Given the description of an element on the screen output the (x, y) to click on. 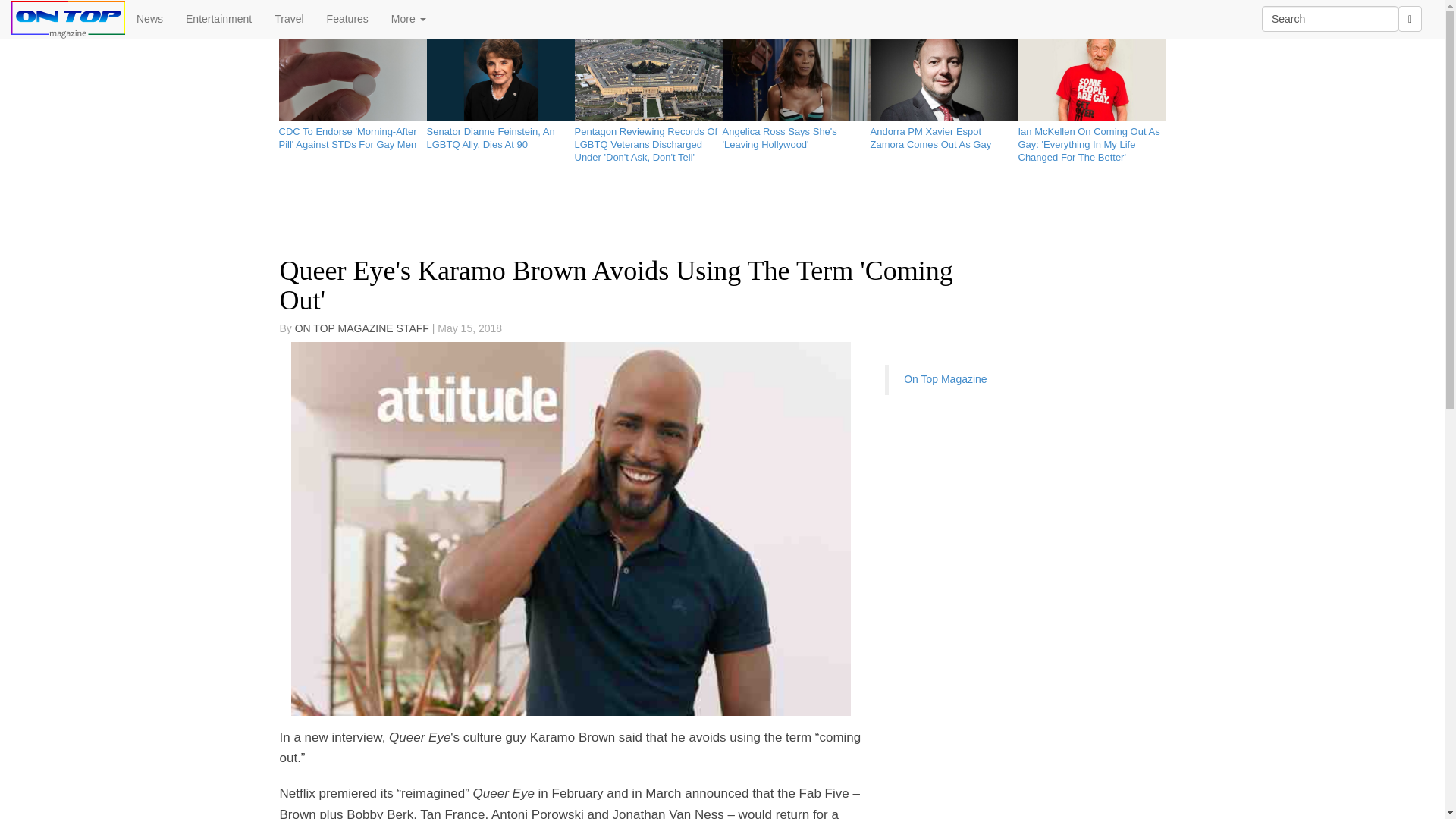
Search (1329, 18)
Search by keyword (1329, 18)
Travel (288, 18)
Entertainment (218, 18)
CDC To Endorse 'Morning-After Pill' Against STDs For Gay Men (352, 135)
More (409, 18)
Features (347, 18)
Senator Dianne Feinstein, An LGBTQ Ally, Dies At 90 (499, 135)
News (149, 18)
Andorra PM Xavier Espot Zamora Comes Out As Gay (943, 135)
Angelica Ross Says She's 'Leaving Hollywood' (795, 135)
